Given the description of an element on the screen output the (x, y) to click on. 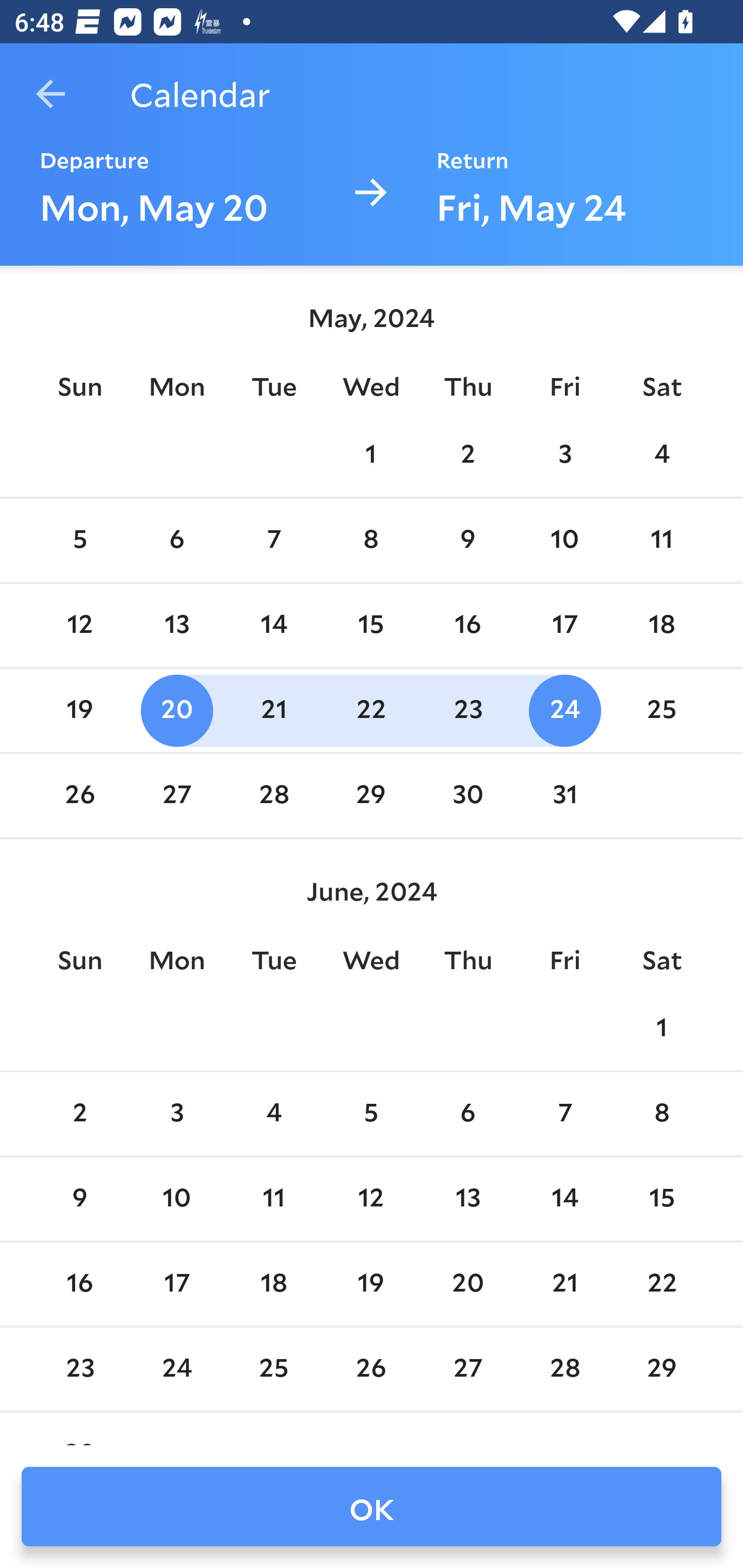
Navigate up (50, 93)
1 (371, 454)
2 (467, 454)
3 (565, 454)
4 (661, 454)
5 (79, 540)
6 (177, 540)
7 (273, 540)
8 (371, 540)
9 (467, 540)
10 (565, 540)
11 (661, 540)
12 (79, 625)
13 (177, 625)
14 (273, 625)
15 (371, 625)
16 (467, 625)
17 (565, 625)
18 (661, 625)
19 (79, 710)
20 (177, 710)
21 (273, 710)
22 (371, 710)
23 (467, 710)
24 (565, 710)
25 (661, 710)
26 (79, 796)
27 (177, 796)
28 (273, 796)
29 (371, 796)
30 (467, 796)
31 (565, 796)
1 (661, 1028)
2 (79, 1114)
3 (177, 1114)
4 (273, 1114)
5 (371, 1114)
6 (467, 1114)
7 (565, 1114)
8 (661, 1114)
9 (79, 1199)
10 (177, 1199)
11 (273, 1199)
12 (371, 1199)
13 (467, 1199)
14 (565, 1199)
15 (661, 1199)
16 (79, 1284)
17 (177, 1284)
18 (273, 1284)
